Given the description of an element on the screen output the (x, y) to click on. 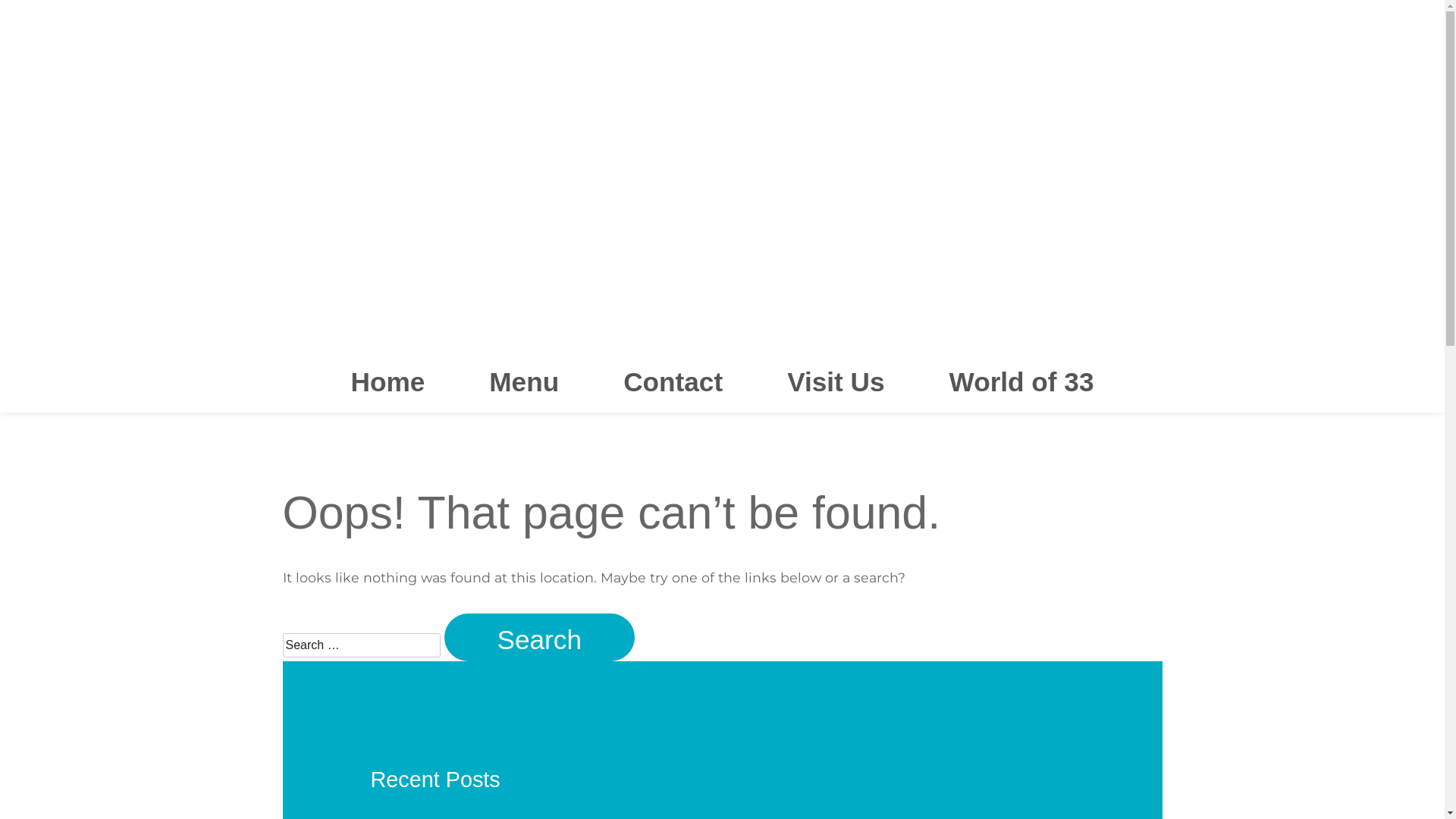
Contact Element type: text (672, 381)
Search Element type: text (539, 637)
Home Element type: text (387, 381)
Menu Element type: text (523, 381)
Visit Us Element type: text (835, 381)
World of 33 Element type: text (1021, 381)
